Given the description of an element on the screen output the (x, y) to click on. 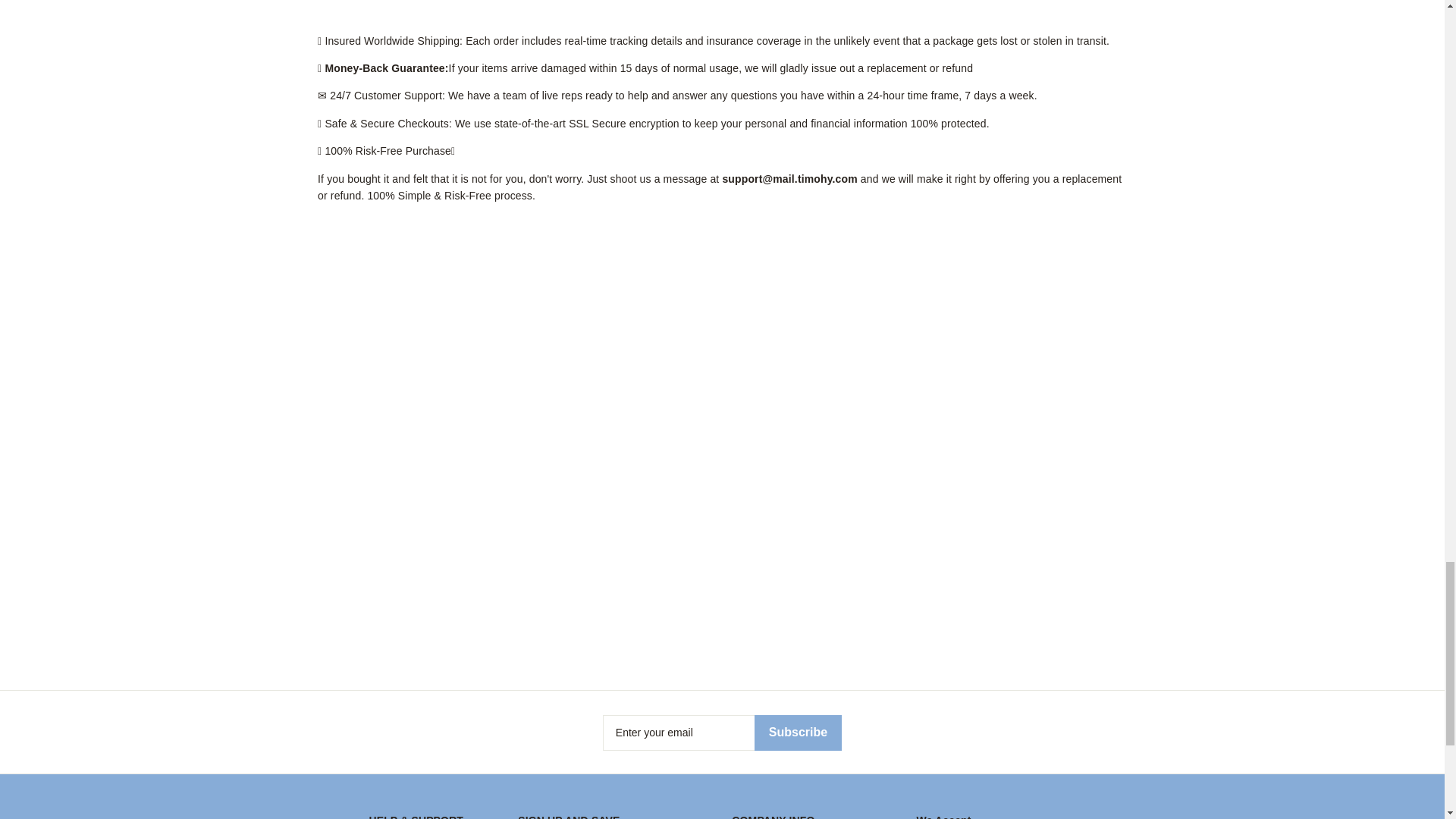
Subscribe (797, 732)
